Given the description of an element on the screen output the (x, y) to click on. 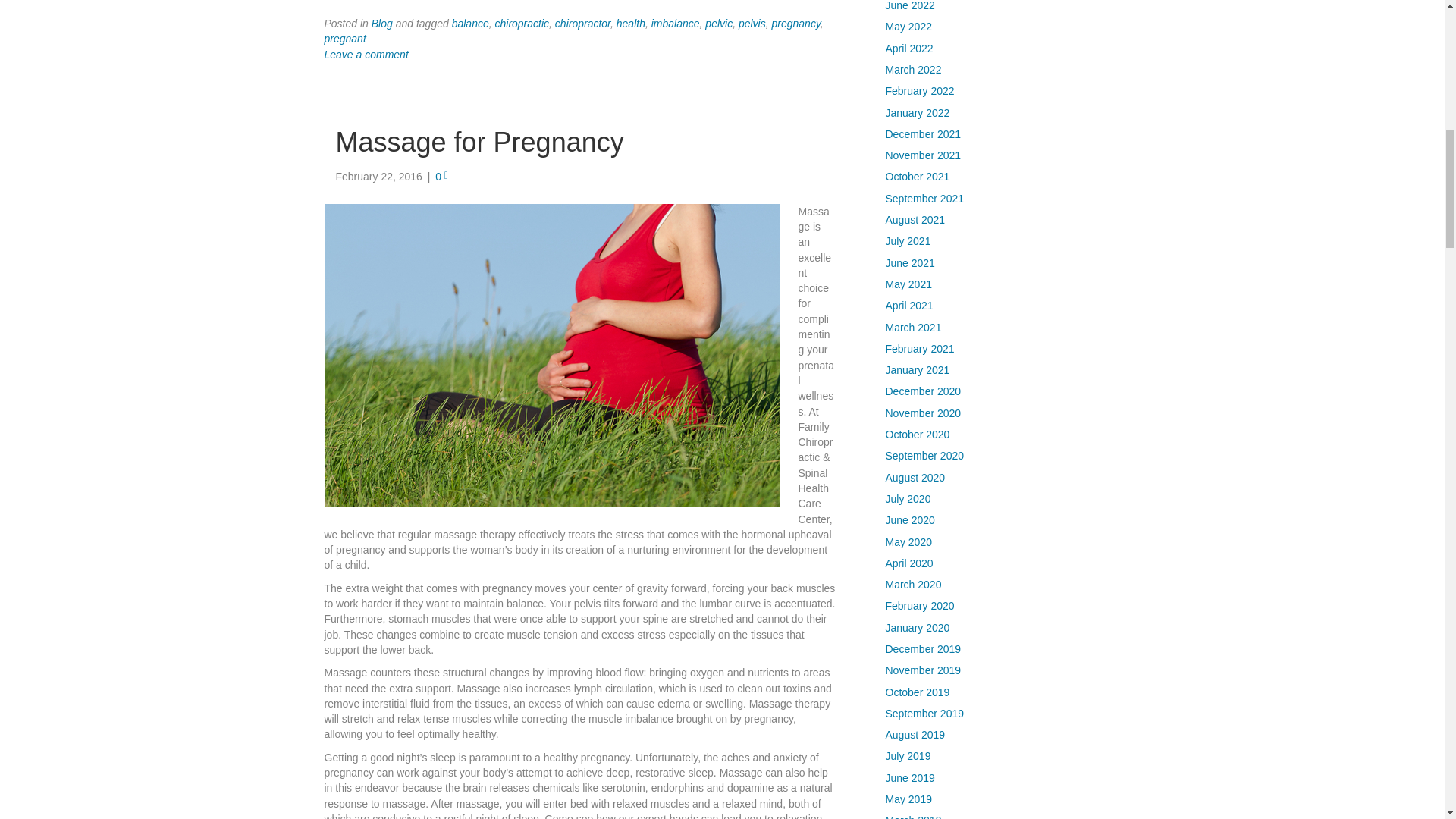
Blog (382, 23)
balance (470, 23)
Massage for Pregnancy (478, 142)
chiropractic (521, 23)
Massage for Pregnancy (551, 354)
